Given the description of an element on the screen output the (x, y) to click on. 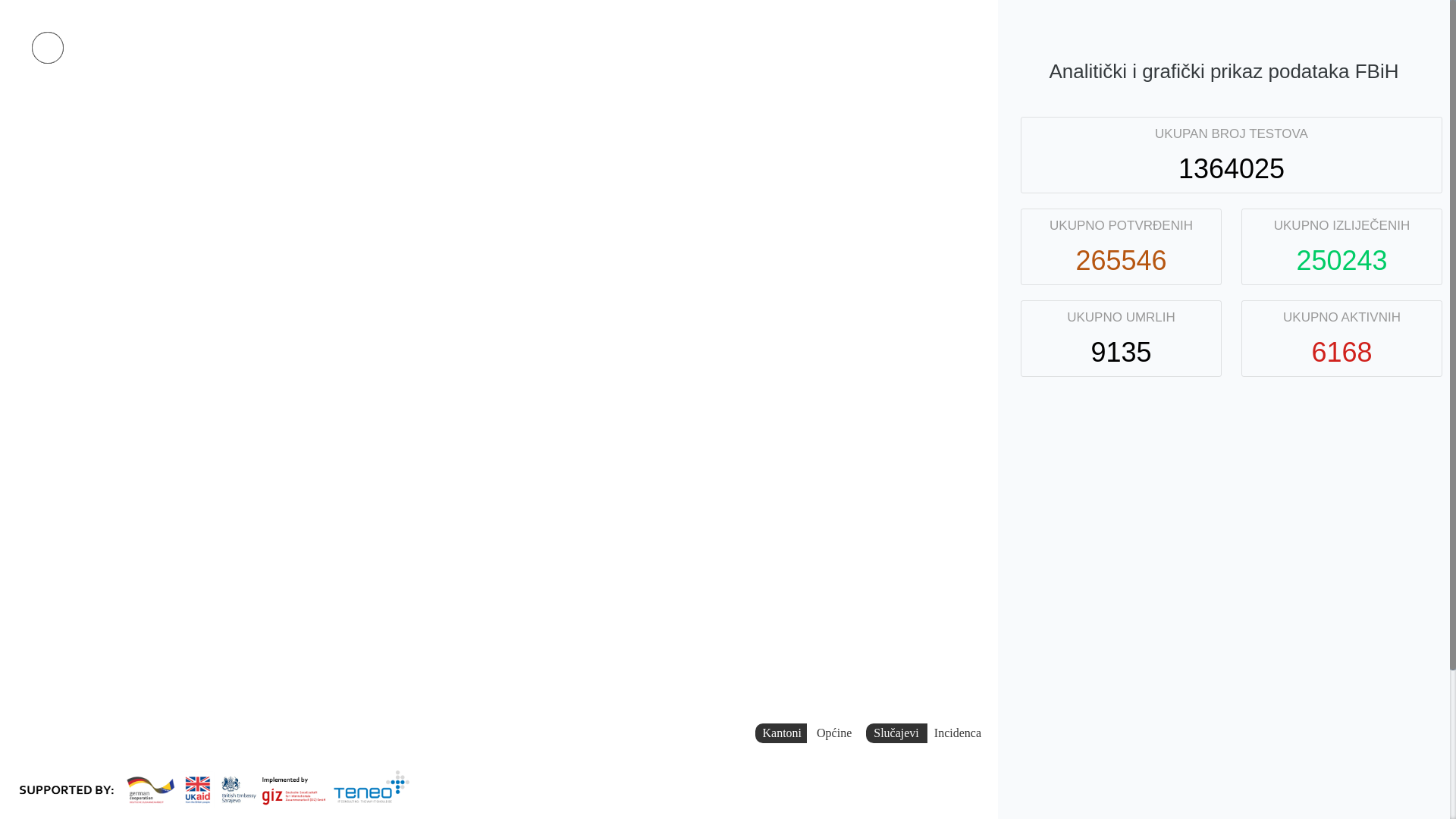
Facebook stranica Element type: hover (47, 47)
